Given the description of an element on the screen output the (x, y) to click on. 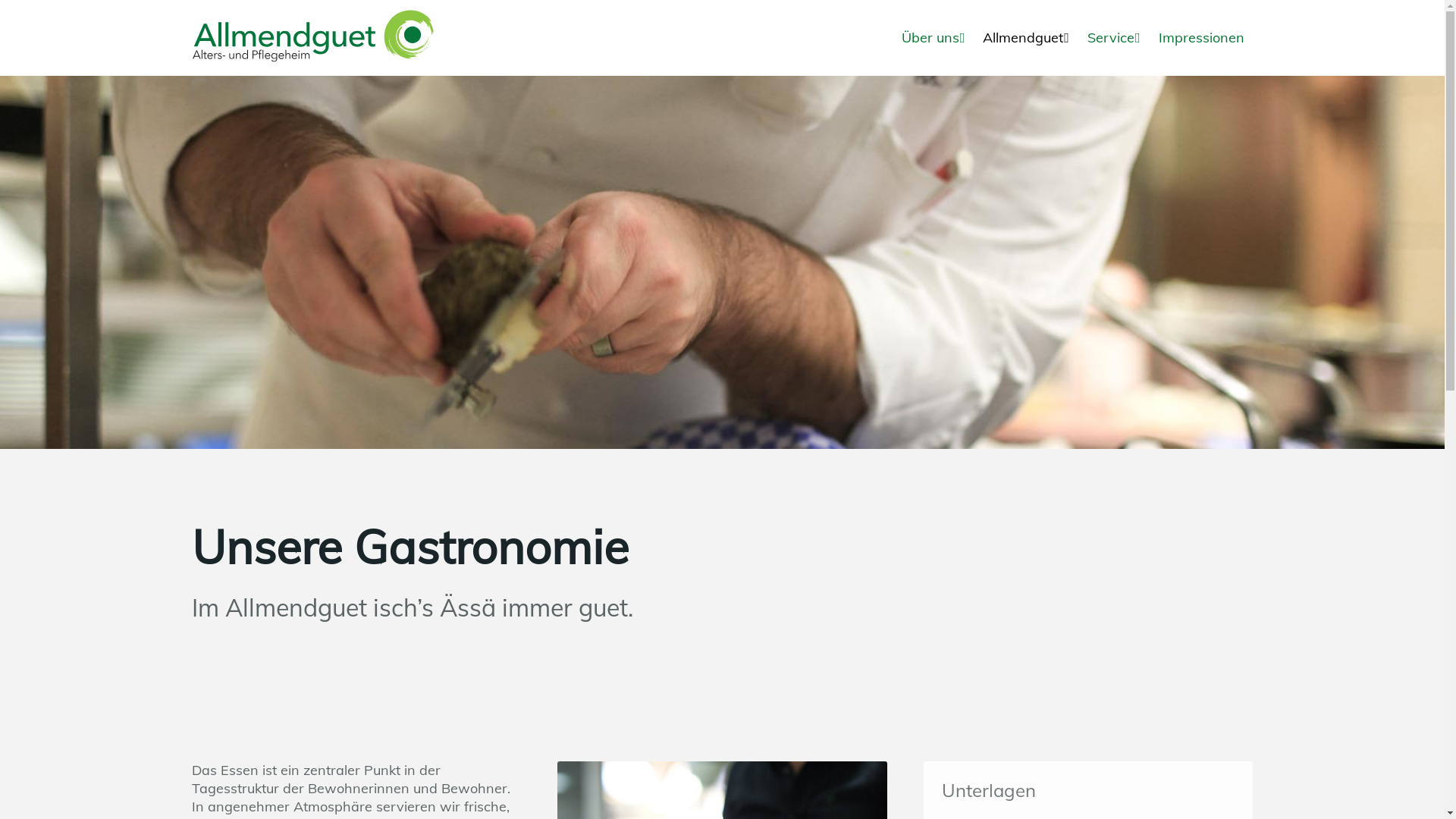
Impressionen Element type: text (1201, 37)
Allmendguet Element type: text (1025, 37)
Service Element type: text (1113, 37)
